Given the description of an element on the screen output the (x, y) to click on. 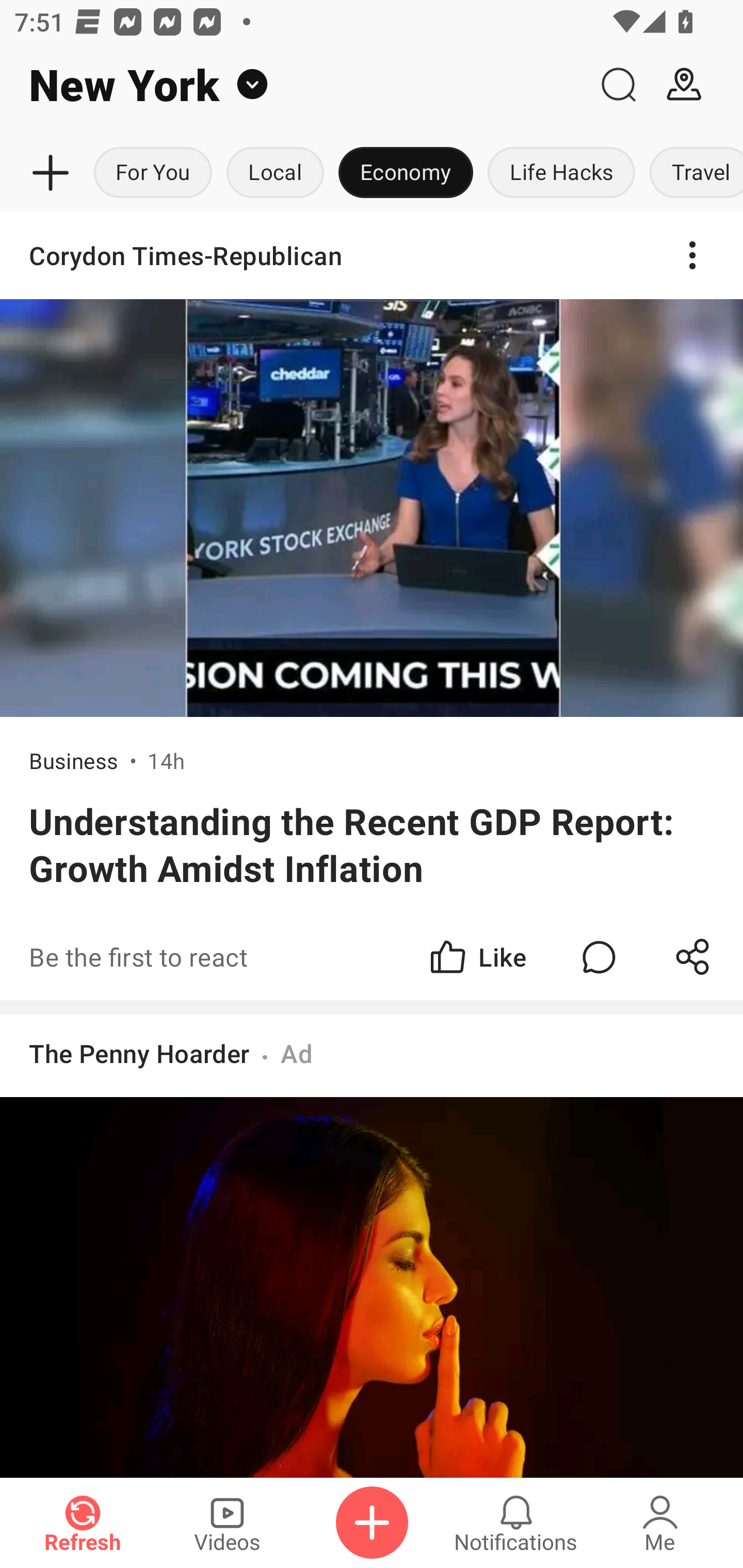
New York (292, 84)
For You (152, 172)
Local (275, 172)
Economy (405, 172)
Life Hacks (561, 172)
Travel (692, 172)
Corydon Times-Republican (371, 255)
Be the first to react (244, 957)
Like (476, 957)
The Penny Hoarder (138, 1053)
Videos (227, 1522)
Notifications (516, 1522)
Me (659, 1522)
